Given the description of an element on the screen output the (x, y) to click on. 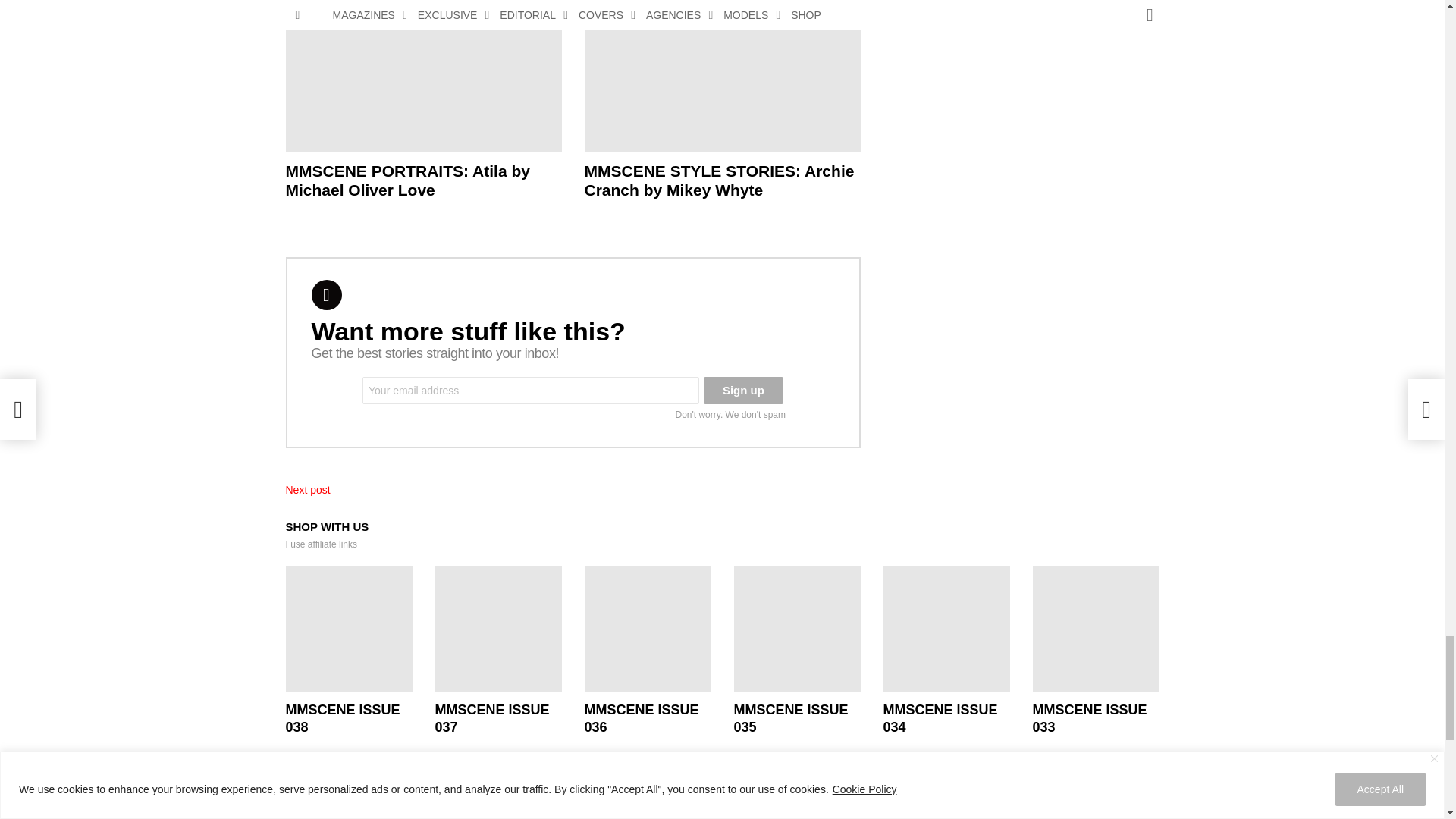
Sign up (743, 390)
